Given the description of an element on the screen output the (x, y) to click on. 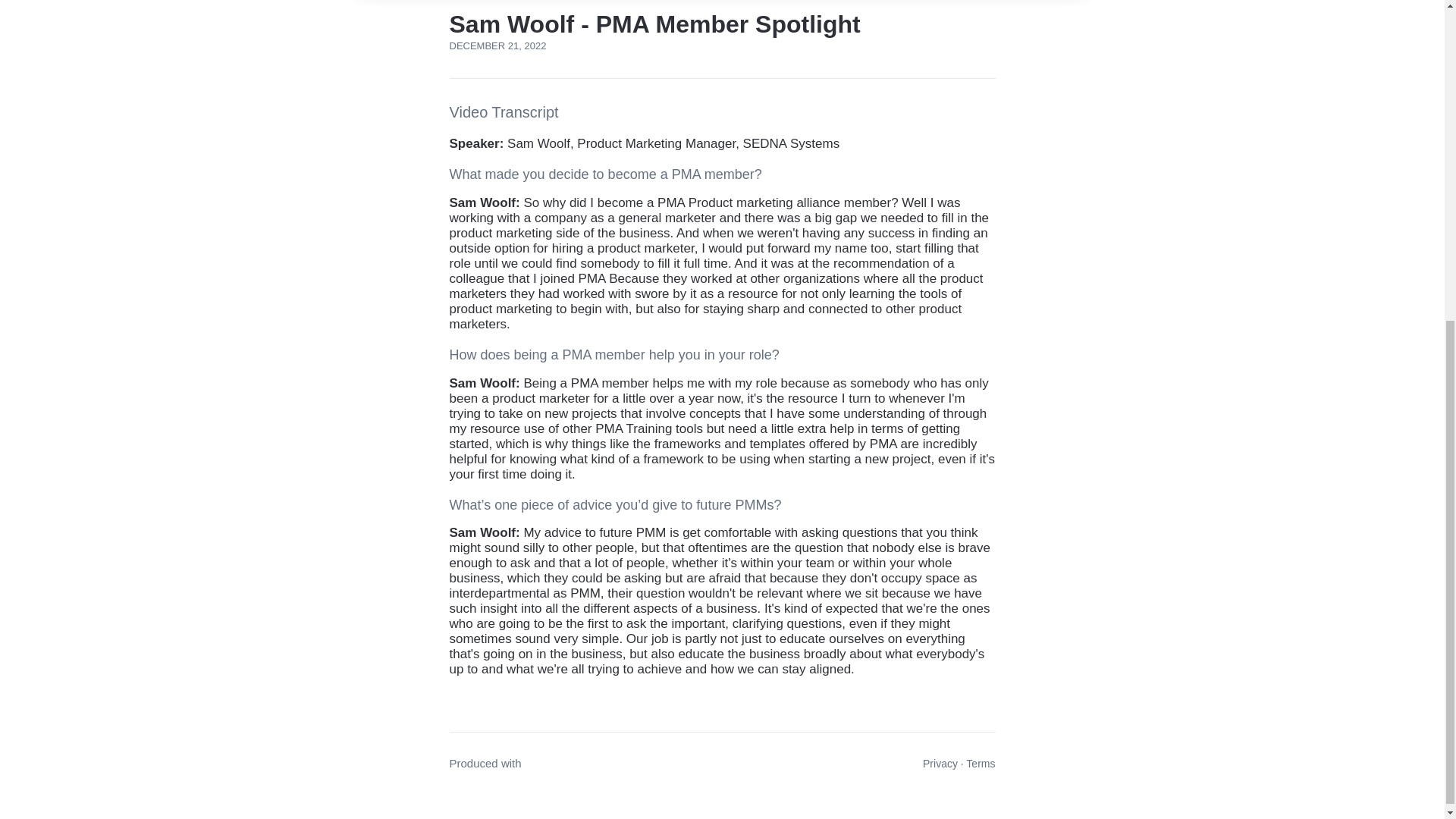
Terms (980, 763)
Vocal Video (554, 762)
Privacy (940, 763)
